Given the description of an element on the screen output the (x, y) to click on. 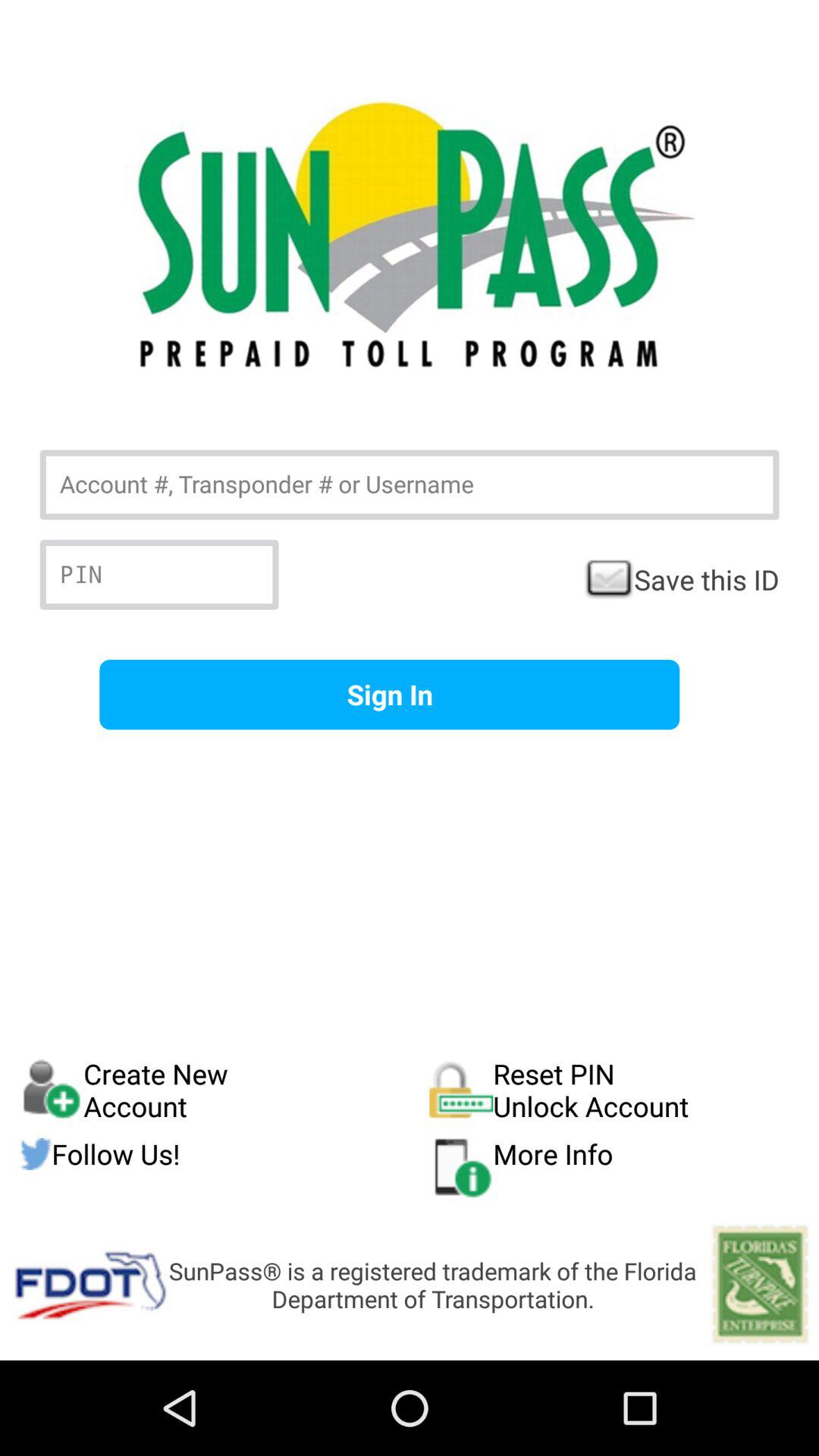
choose item above sign in icon (681, 579)
